Given the description of an element on the screen output the (x, y) to click on. 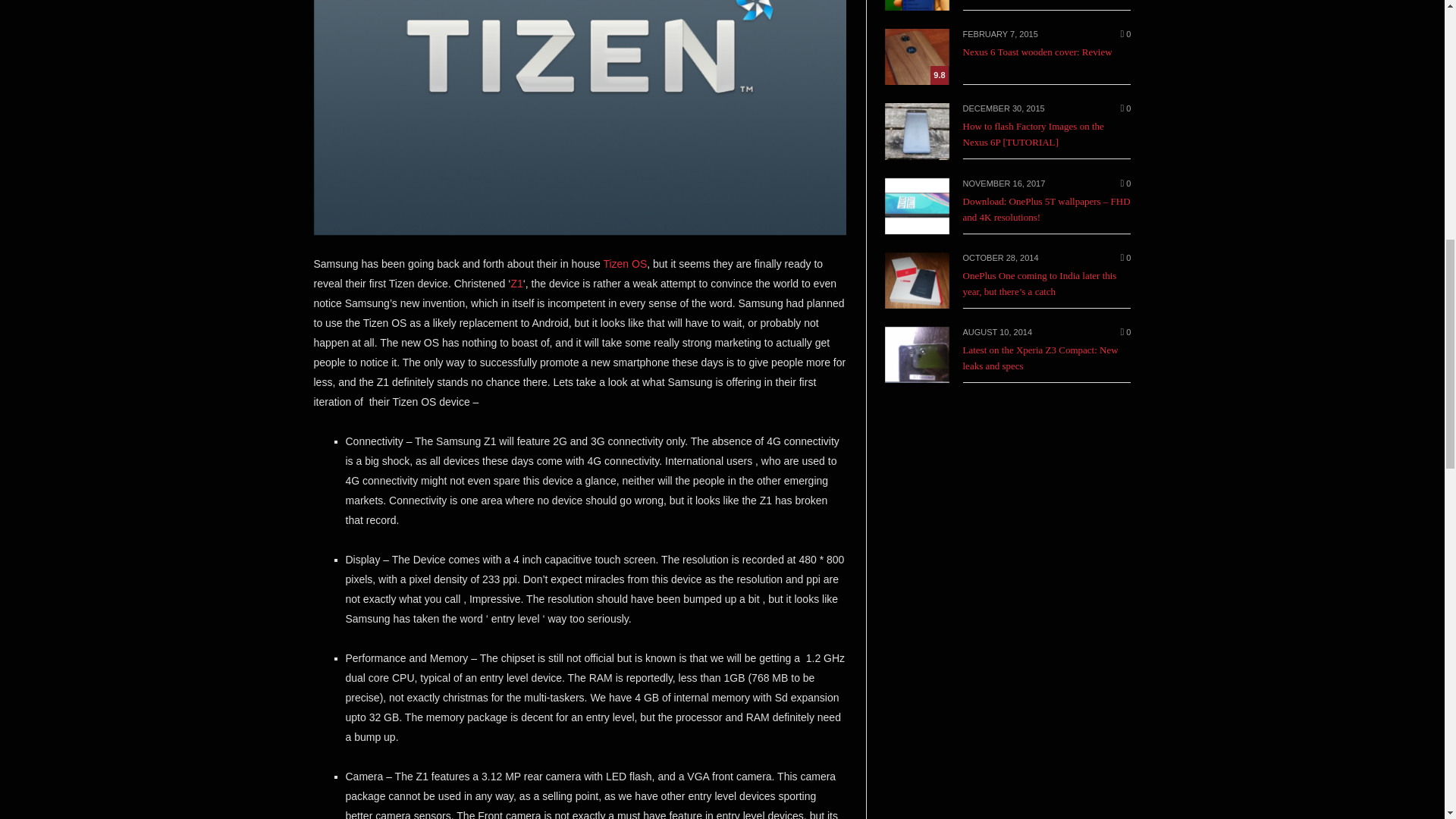
Tizen OS (624, 263)
Z1 (516, 283)
